Given the description of an element on the screen output the (x, y) to click on. 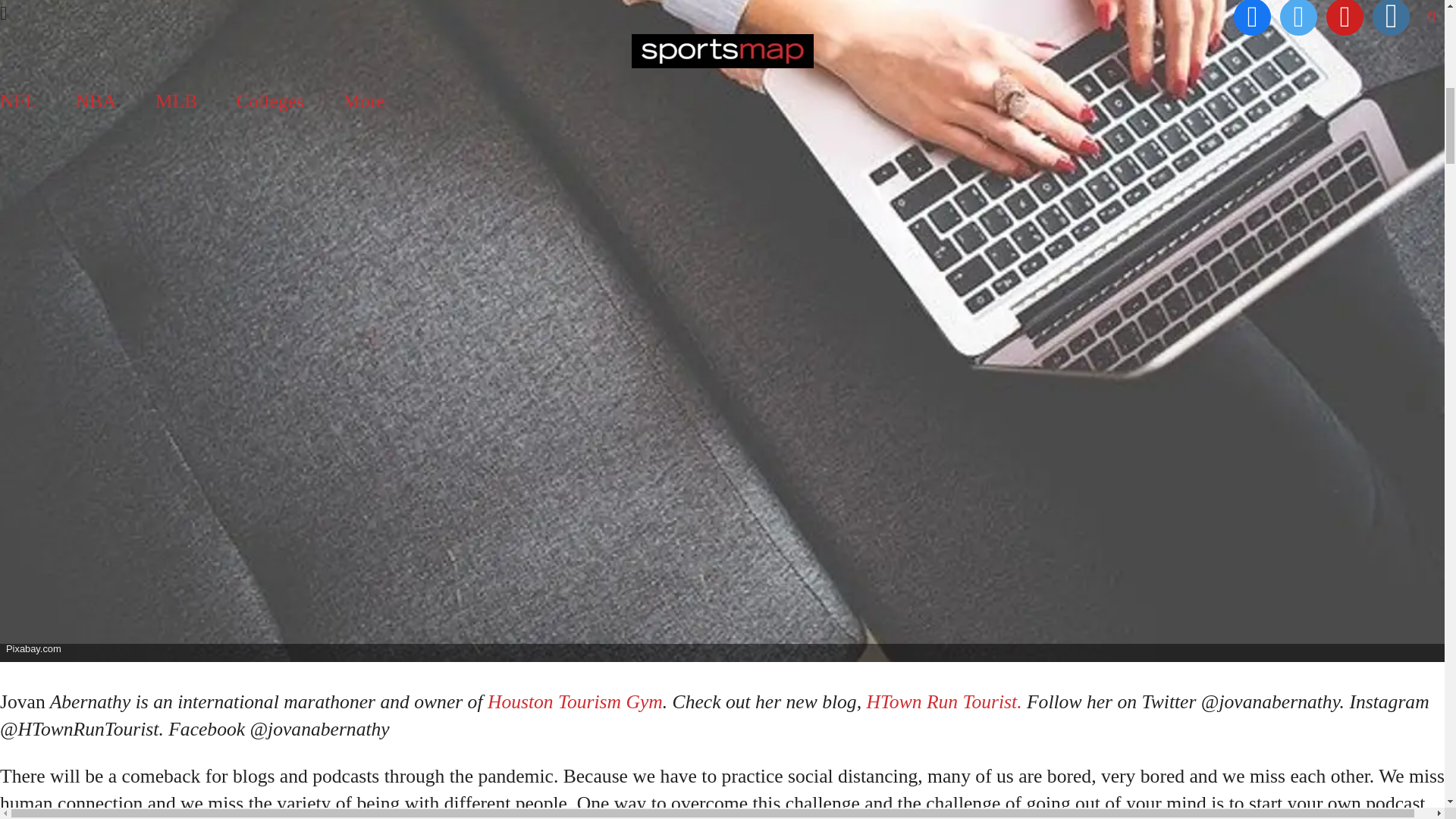
HTown Run Tourist. (941, 701)
Houston Tourism Gym (574, 701)
